Given the description of an element on the screen output the (x, y) to click on. 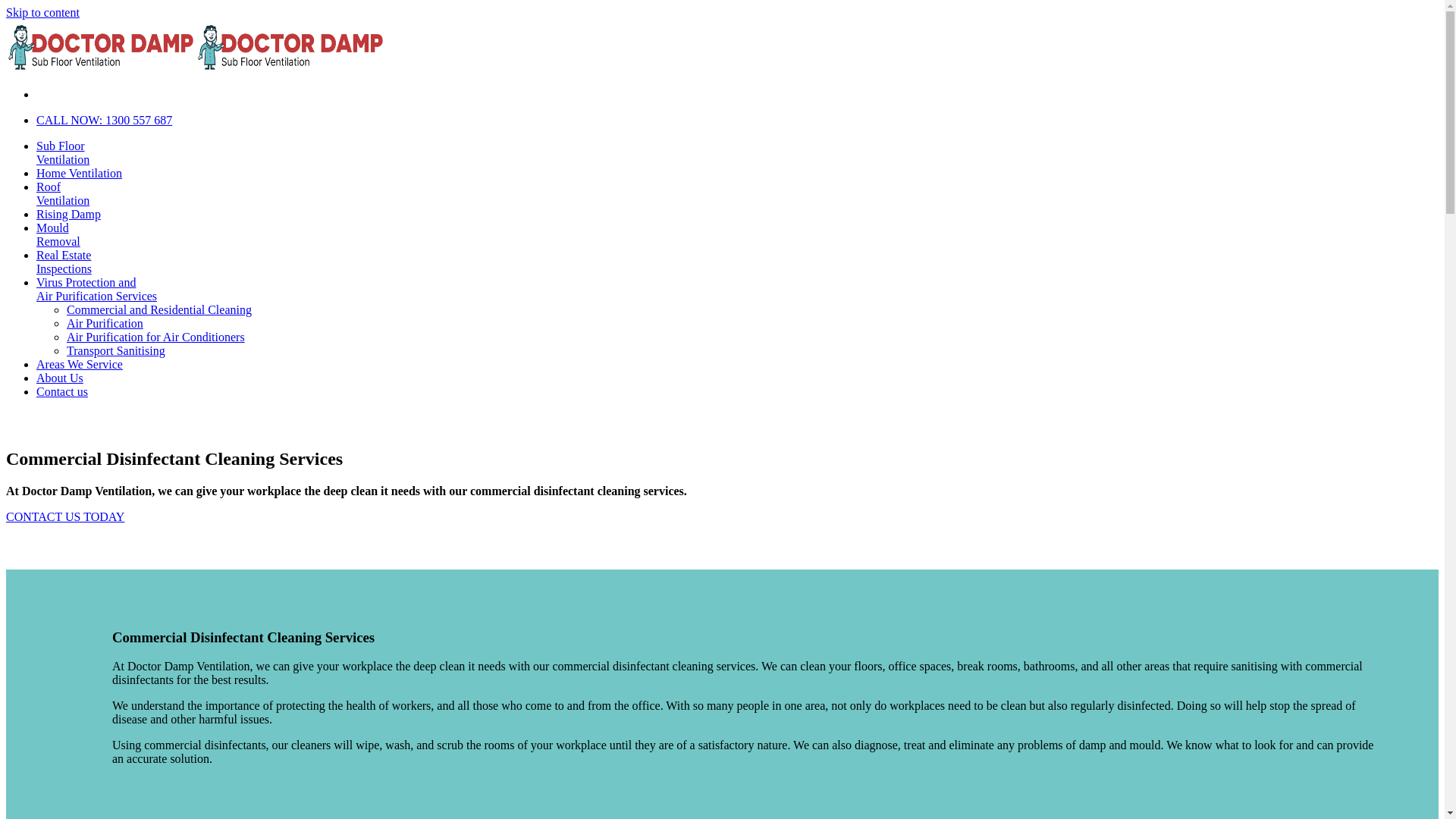
Skip to content Element type: text (42, 12)
Transport Sanitising Element type: text (115, 350)
Sub Floor
Ventilation Element type: text (62, 152)
About Us Element type: text (59, 377)
Mould
Removal Element type: text (58, 234)
CALL NOW: 1300 557 687 Element type: text (104, 119)
Virus Protection and
Air Purification Services Element type: text (96, 289)
Air Purification for Air Conditioners Element type: text (155, 336)
Real Estate
Inspections Element type: text (63, 261)
Commercial and Residential Cleaning Element type: text (158, 309)
CONTACT US TODAY Element type: text (65, 516)
Air Purification Element type: text (104, 322)
Roof
Ventilation Element type: text (62, 193)
Areas We Service Element type: text (79, 363)
Contact us Element type: text (61, 391)
Home Ventilation Element type: text (79, 172)
Rising Damp Element type: text (68, 213)
